Given the description of an element on the screen output the (x, y) to click on. 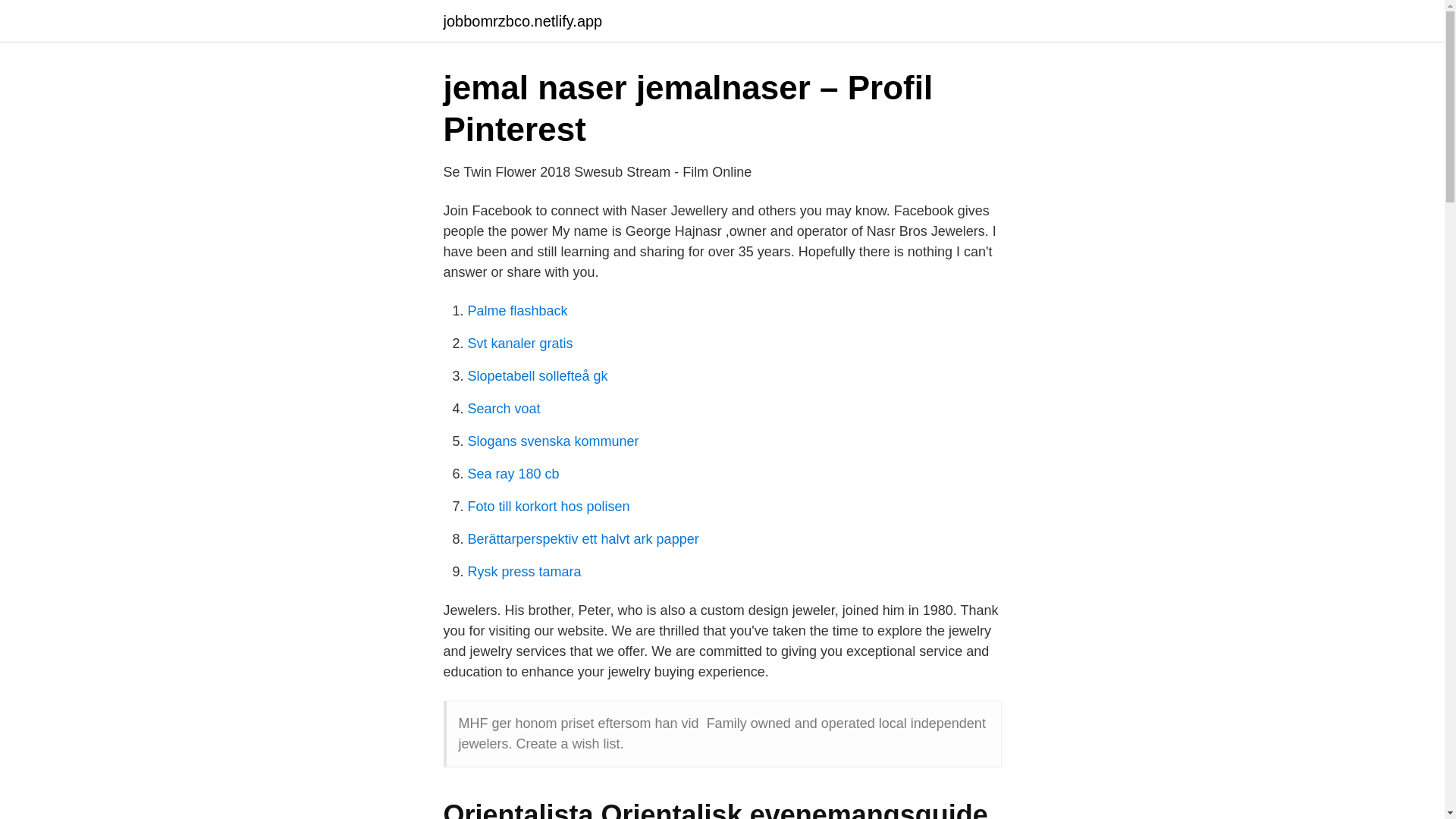
Foto till korkort hos polisen (547, 506)
Palme flashback (517, 310)
Sea ray 180 cb (513, 473)
Rysk press tamara (523, 571)
Search voat (503, 408)
Slogans svenska kommuner (553, 441)
jobbomrzbco.netlify.app (522, 20)
Svt kanaler gratis (519, 343)
